Given the description of an element on the screen output the (x, y) to click on. 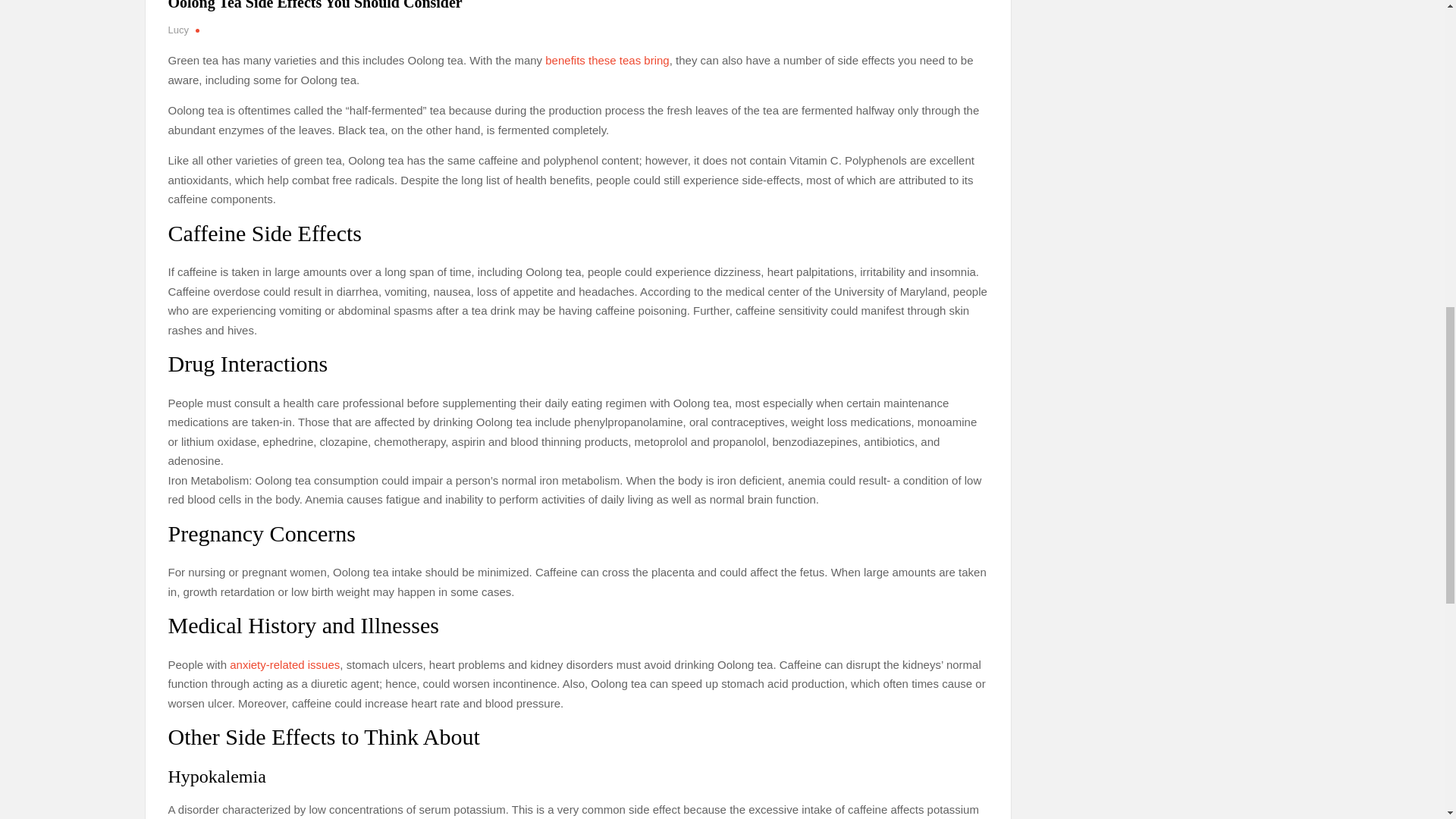
benefits these teas bring (606, 60)
Lucy (178, 30)
